Given the description of an element on the screen output the (x, y) to click on. 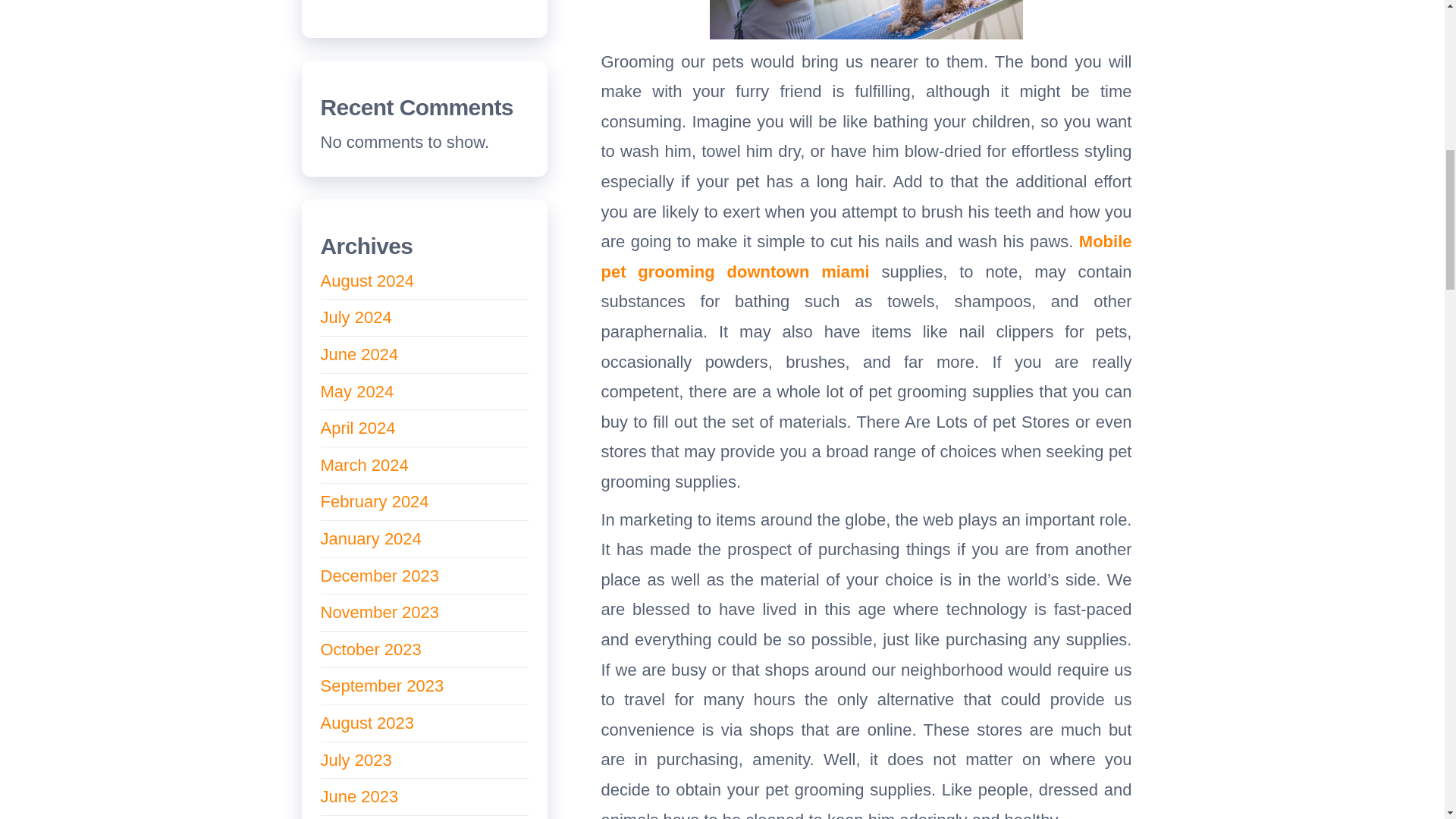
October 2023 (370, 649)
April 2024 (357, 427)
December 2023 (379, 575)
August 2023 (366, 722)
June 2023 (358, 796)
September 2023 (382, 685)
February 2024 (374, 501)
March 2024 (363, 465)
May 2024 (356, 391)
January 2024 (370, 538)
